Given the description of an element on the screen output the (x, y) to click on. 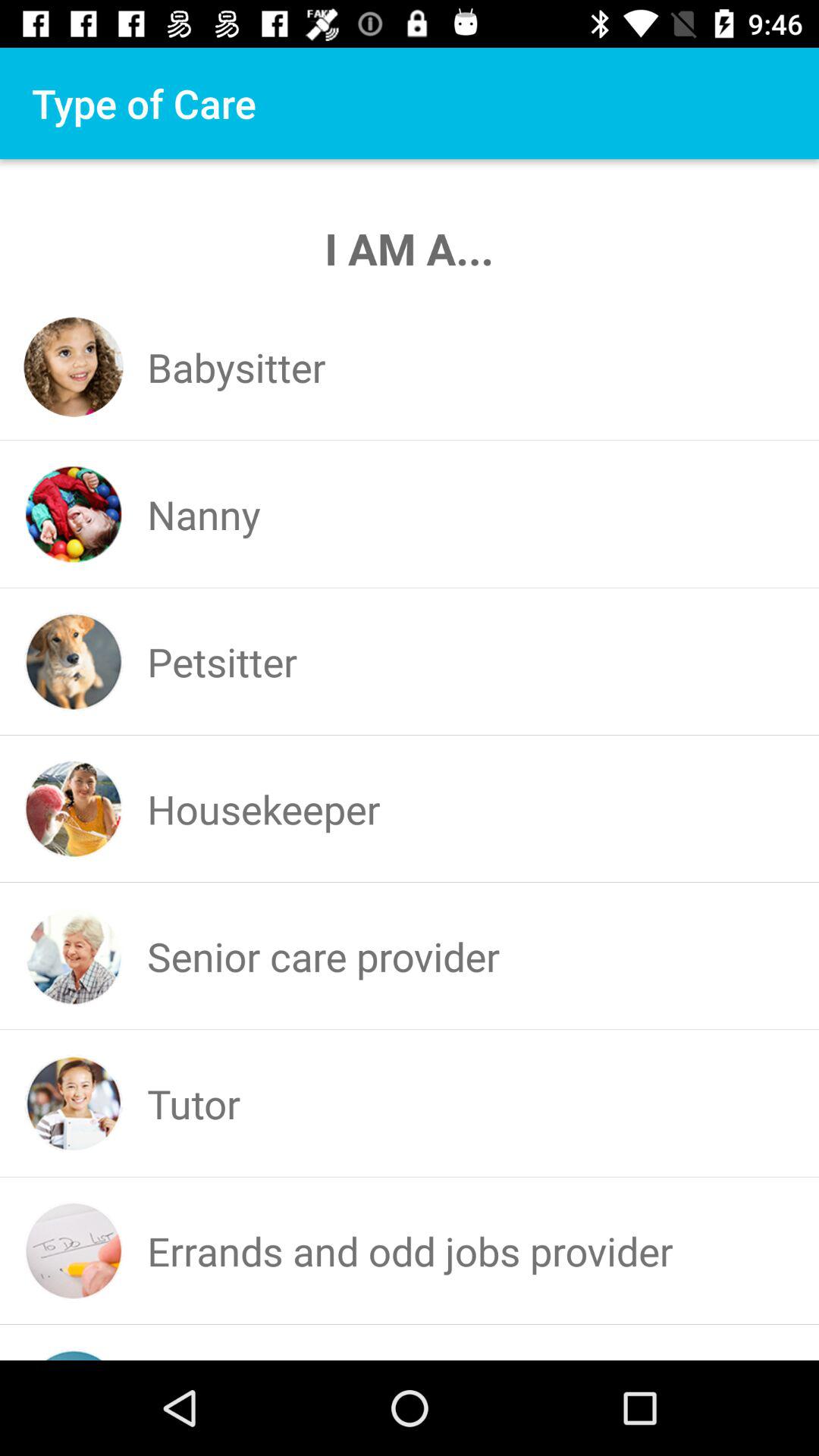
turn off the app below the petsitter item (263, 808)
